Given the description of an element on the screen output the (x, y) to click on. 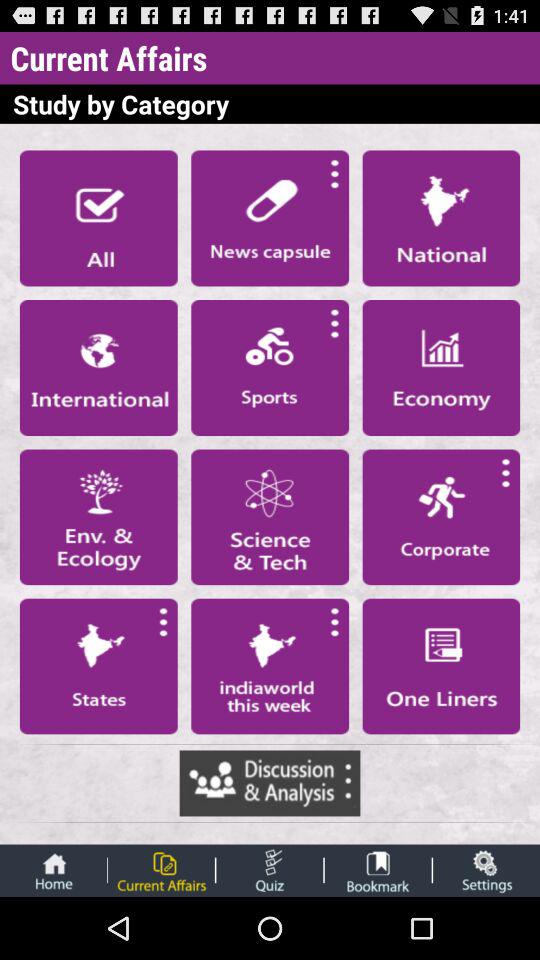
open stock page (441, 367)
